Given the description of an element on the screen output the (x, y) to click on. 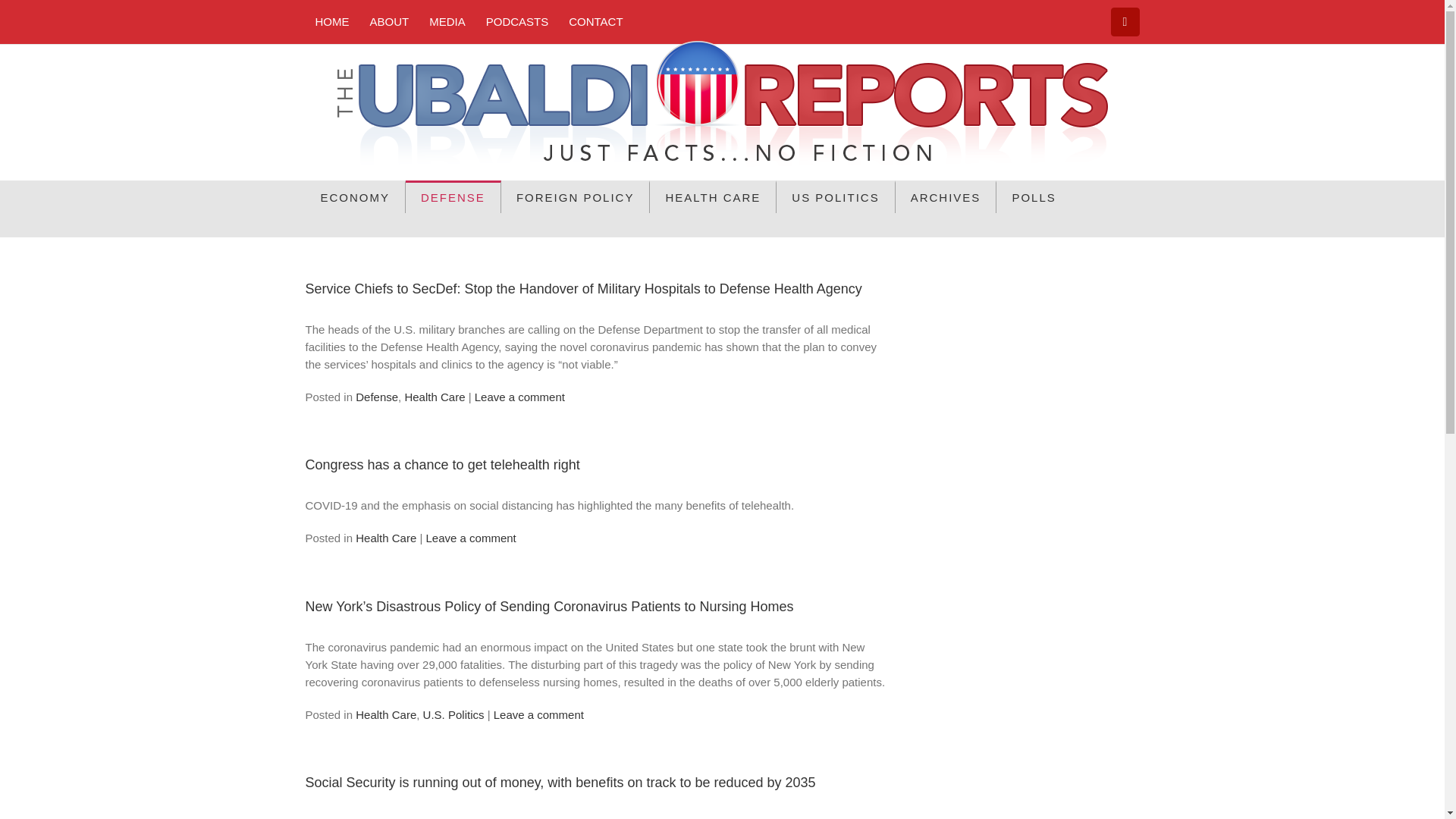
HEALTH CARE (712, 196)
ARCHIVES (946, 196)
Leave a comment (519, 396)
Health Care (434, 396)
PODCASTS (517, 21)
ABOUT (389, 21)
Health Care (385, 714)
HOME (331, 21)
Health Care (385, 537)
Congress has a chance to get telehealth right (441, 464)
DEFENSE (453, 196)
Defense (376, 396)
Leave a comment (538, 714)
US POLITICS (835, 196)
